Given the description of an element on the screen output the (x, y) to click on. 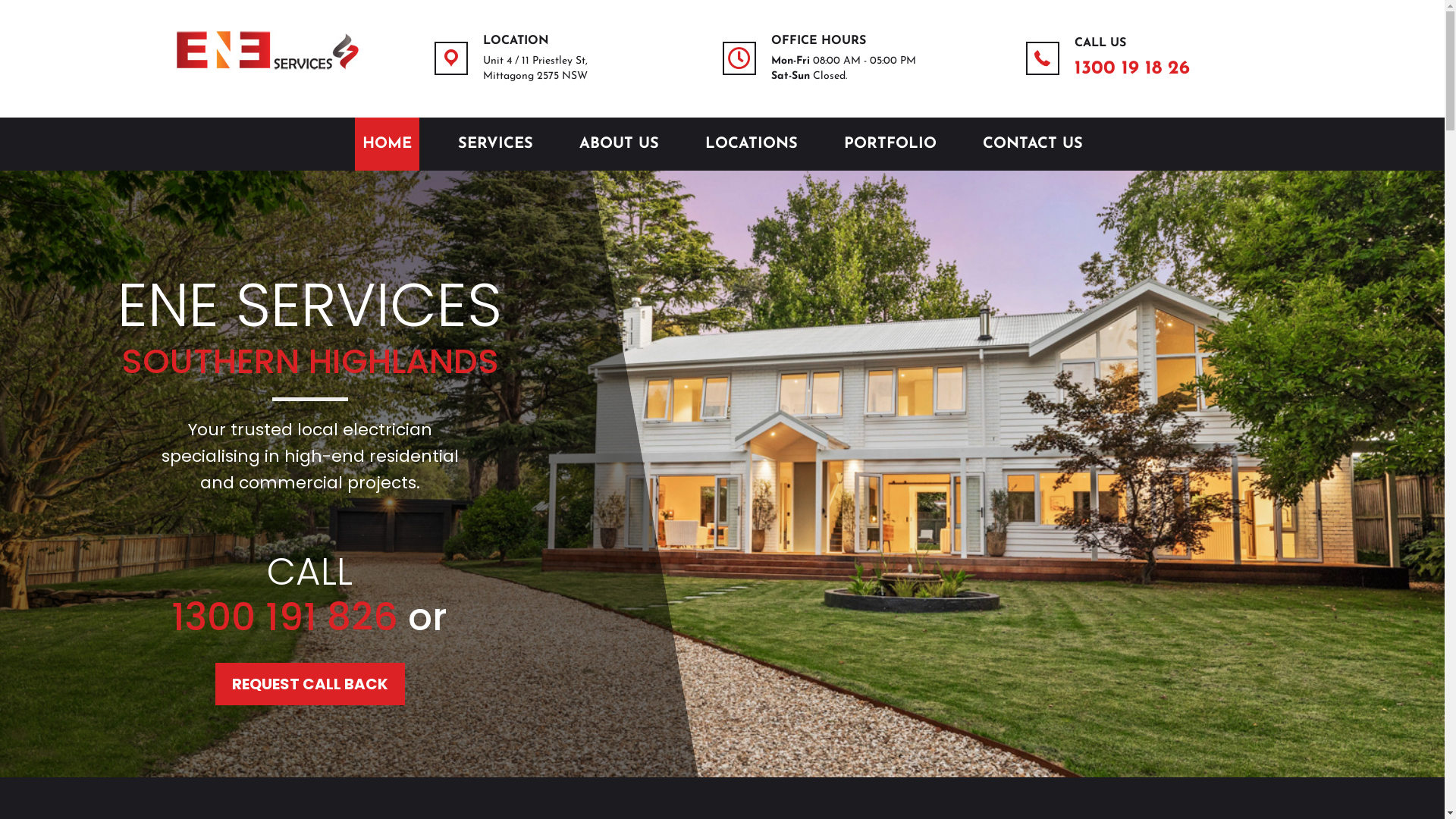
CALL US Element type: text (1099, 42)
ene-logo Element type: hover (267, 50)
1300 191 826 Element type: text (284, 616)
LOCATIONS Element type: text (751, 143)
HOME Element type: text (386, 143)
REQUEST CALL BACK Element type: text (309, 683)
SERVICES Element type: text (495, 143)
ABOUT US Element type: text (618, 143)
OFFICE HOURS Element type: text (817, 40)
PORTFOLIO Element type: text (889, 143)
LOCATION Element type: text (515, 40)
1300 19 18 26 Element type: text (1131, 68)
CONTACT US Element type: text (1032, 143)
